Given the description of an element on the screen output the (x, y) to click on. 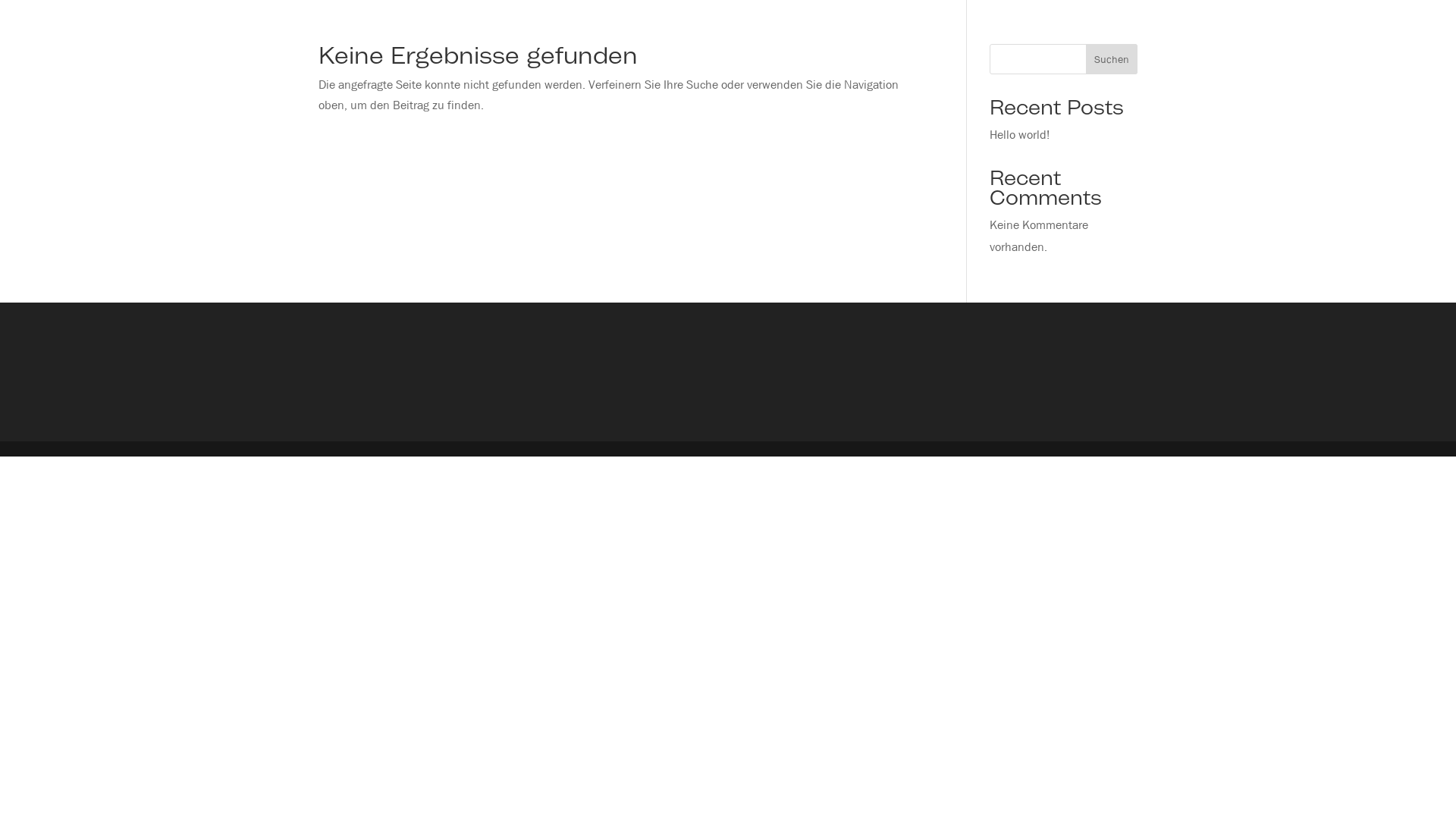
Hello world! Element type: text (1019, 134)
Suchen Element type: text (1111, 58)
